Given the description of an element on the screen output the (x, y) to click on. 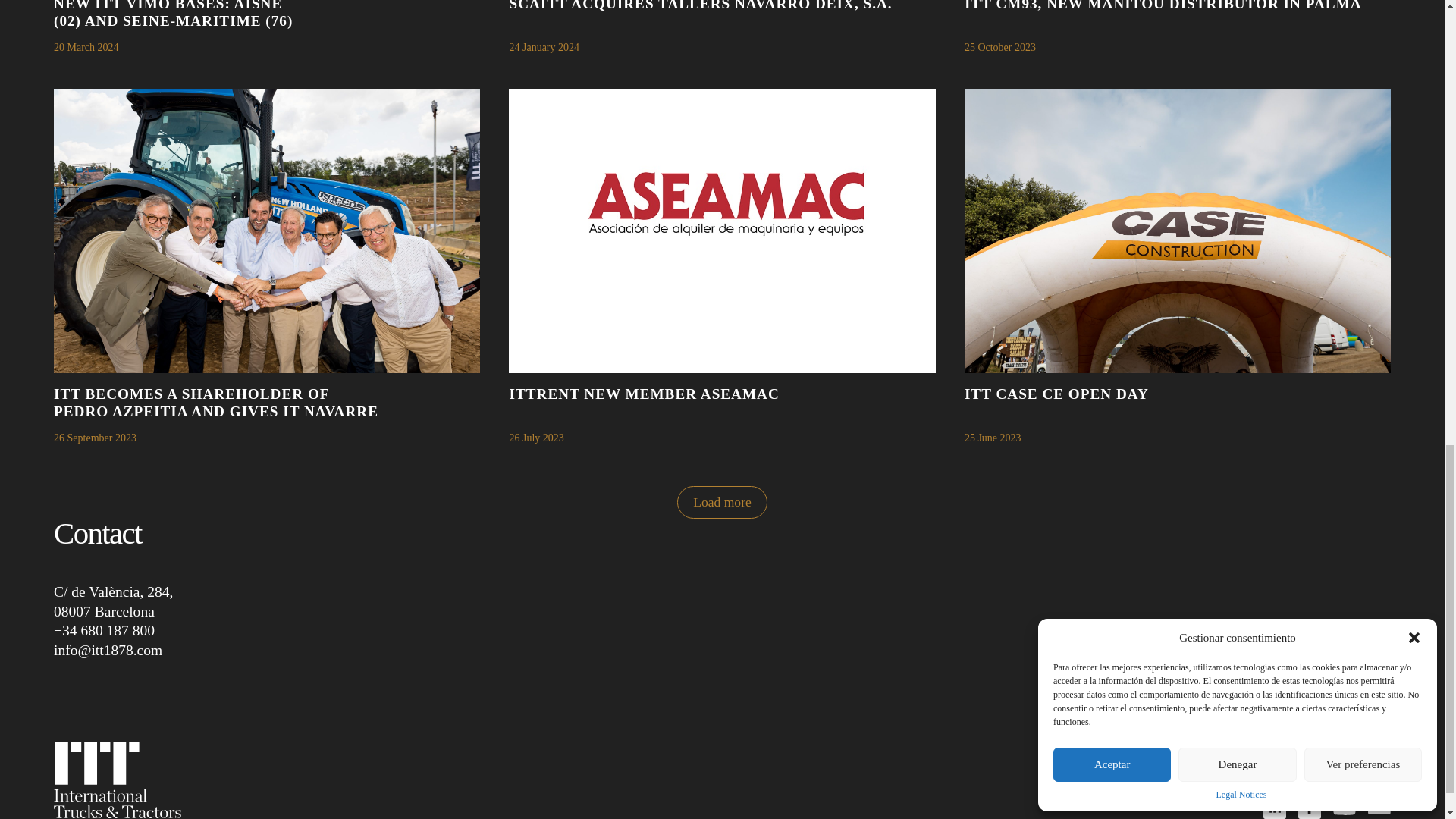
Load more (722, 502)
